Given the description of an element on the screen output the (x, y) to click on. 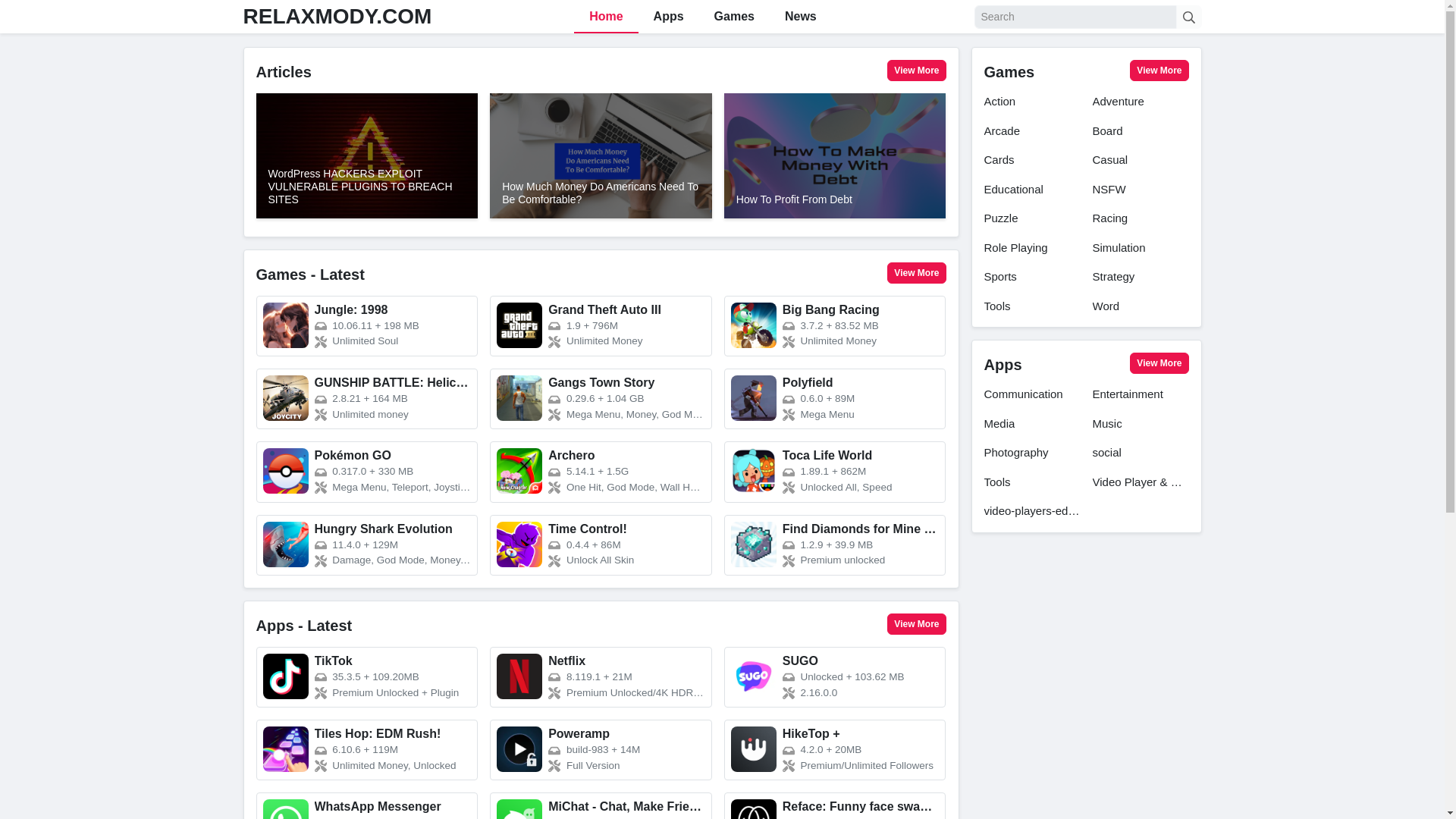
How To Profit From Debt (834, 155)
Jungle: 1998 (367, 325)
TikTok (367, 677)
Toca Life World (834, 471)
Time Control! (600, 545)
How Much Money Do Americans Need To Be Comfortable? (600, 155)
Gangs Town Story (600, 398)
WordPress HACKERS EXPLOIT VULNERABLE PLUGINS TO BREACH SITES (367, 155)
Articles (283, 71)
Home (605, 16)
GUNSHIP BATTLE: Helicopter 3D (367, 398)
Poweramp (600, 749)
Games - Latest (310, 274)
Netflix (600, 677)
View More (915, 272)
